Given the description of an element on the screen output the (x, y) to click on. 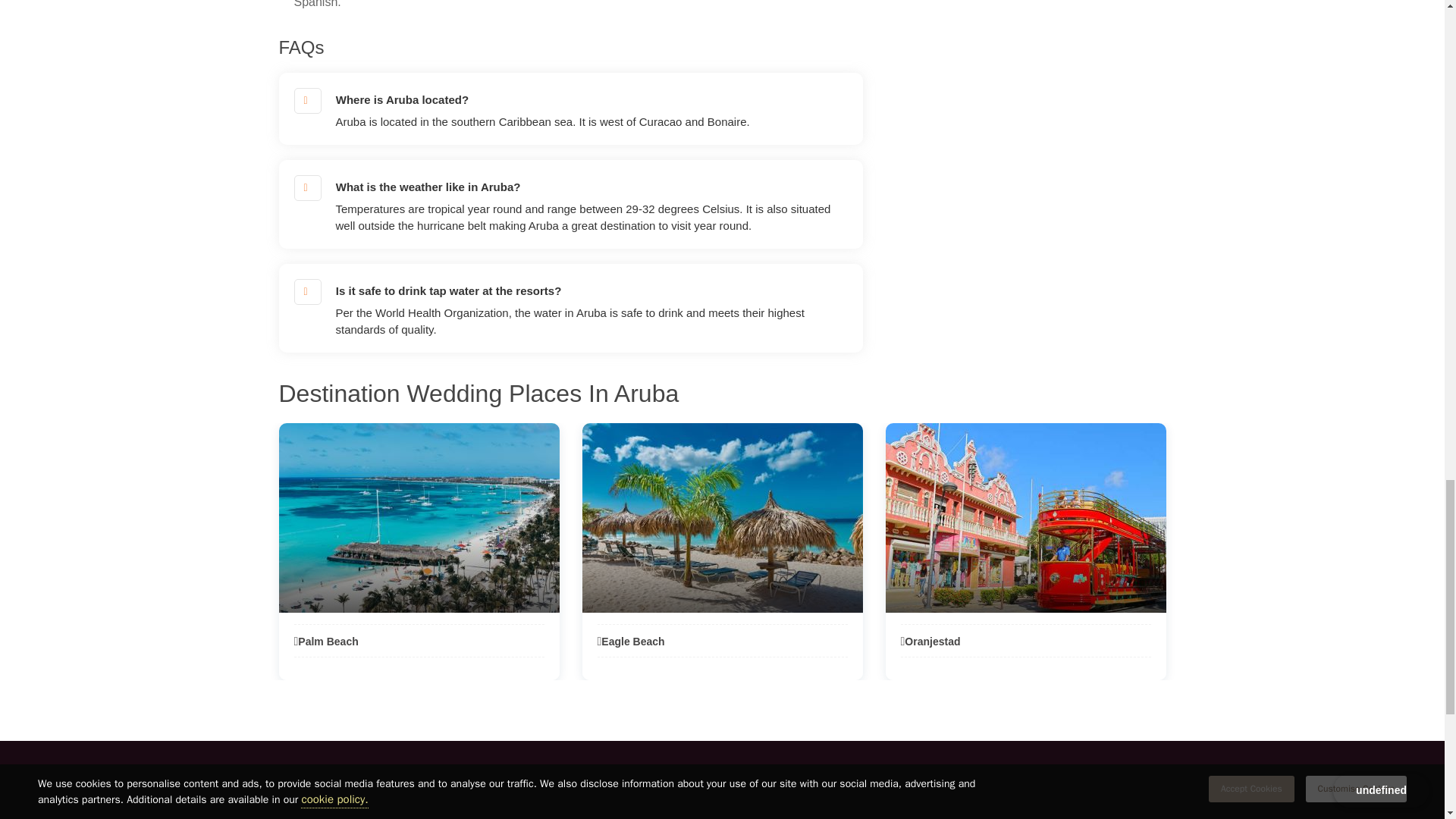
Eagle Beach (630, 641)
Palm Beach (326, 641)
Oranjestad (930, 641)
